Given the description of an element on the screen output the (x, y) to click on. 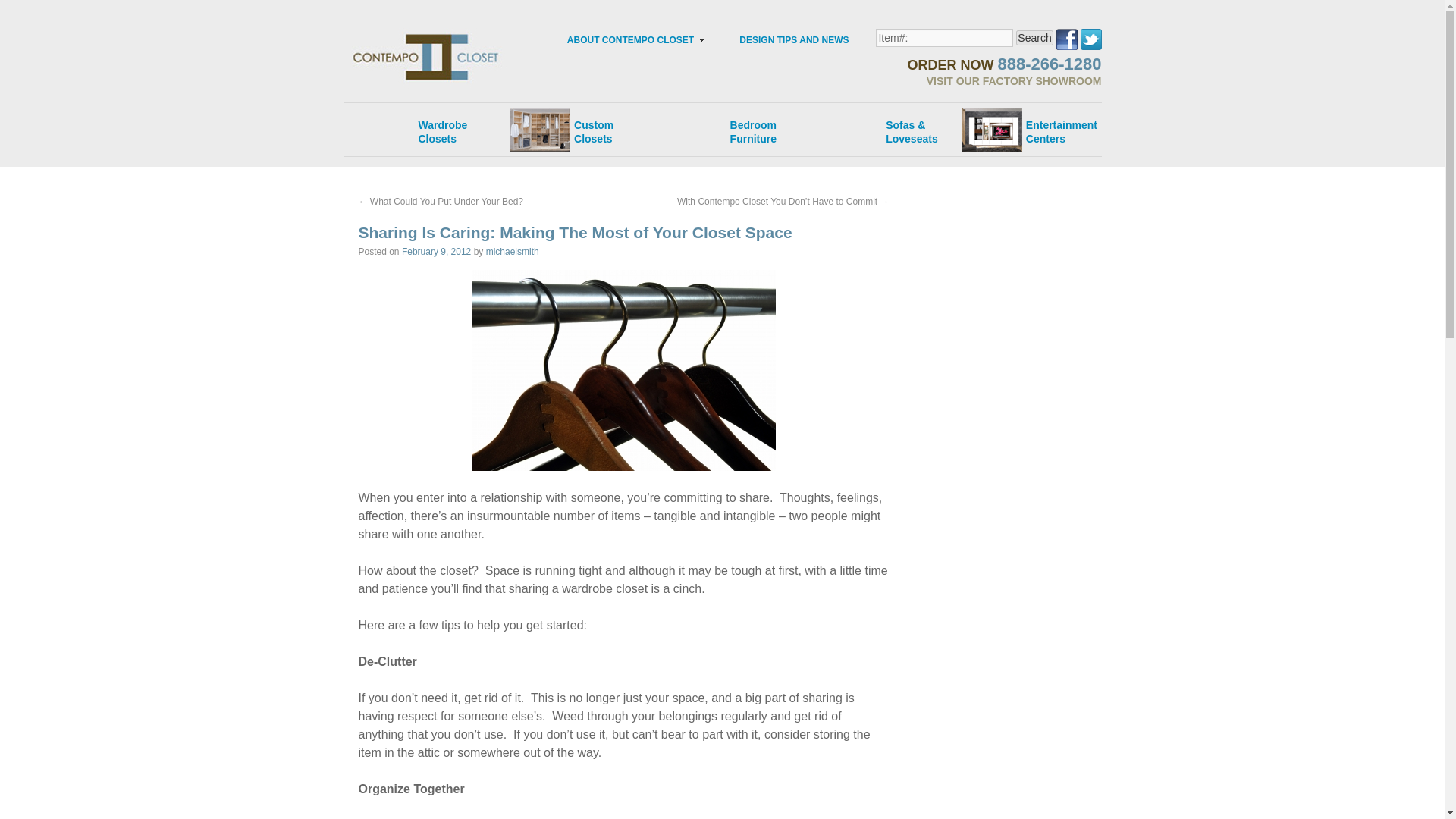
ORDER NOW 888-266-1280 (1048, 52)
Search (1034, 37)
February 9, 2012 (435, 251)
ORDER NOW 888-266-1280 (571, 124)
ABOUT CONTEMPO CLOSET (991, 60)
michaelsmith (629, 39)
Facebook - Contempo Closet (512, 251)
ORDER NOW 888-266-1280 (429, 124)
